Given the description of an element on the screen output the (x, y) to click on. 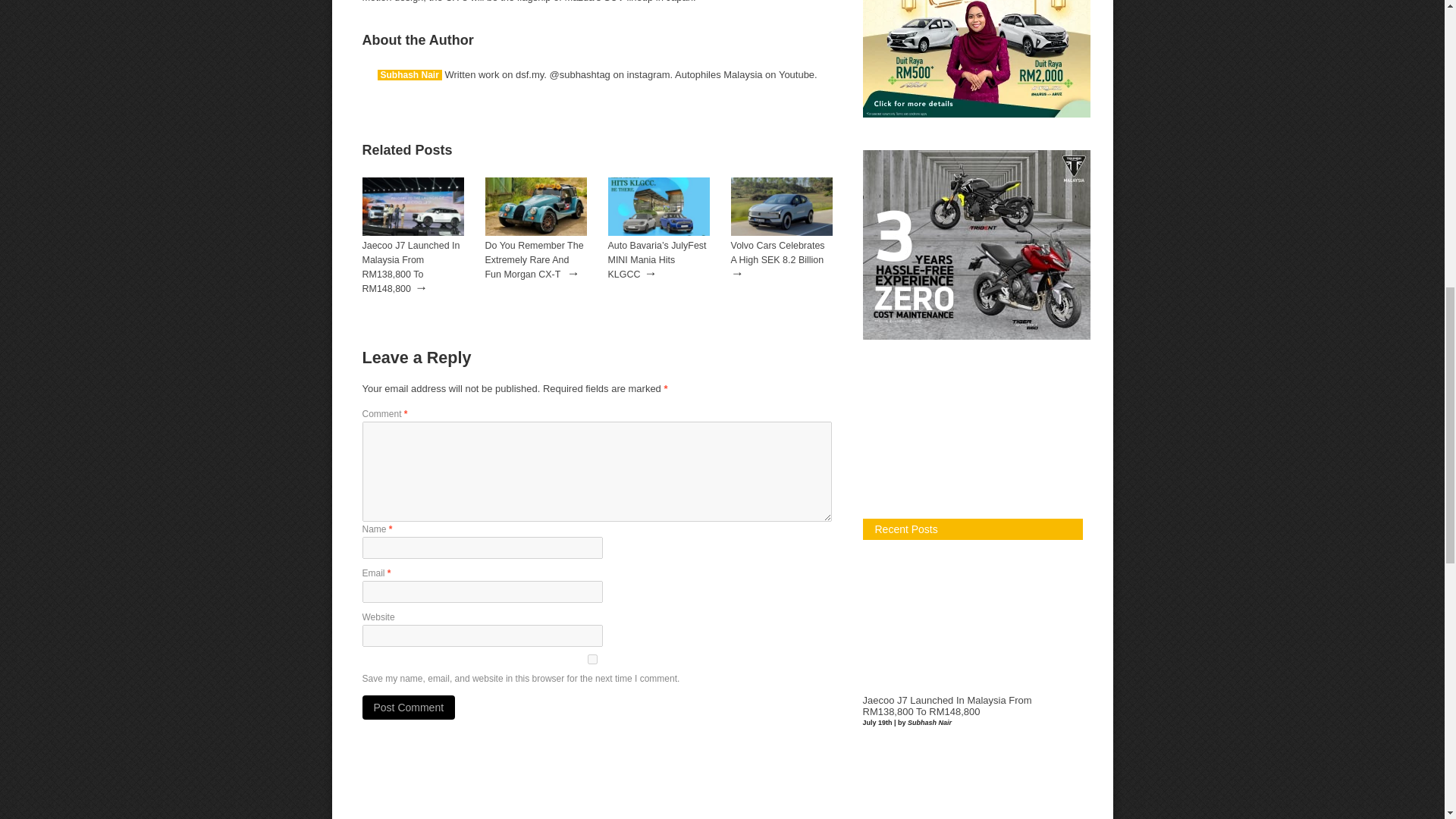
Jaecoo J7 Launched In Malaysia From RM138,800 To RM148,800 (413, 232)
Posts by Subhash Nair (409, 74)
Jaecoo J7 Launched In Malaysia From RM138,800 To RM148,800 (411, 267)
Jaecoo J7 Launched In Malaysia From RM138,800 To RM148,800 (947, 706)
Post Comment (408, 707)
Jaecoo J7 Launched In Malaysia From RM138,800 To RM148,800 (411, 267)
Subhash Nair (409, 74)
Volvo Cars Celebrates A High SEK 8.2 Billion (777, 252)
Volvo Cars Celebrates A High SEK 8.2 Billion (781, 232)
Volvo Cars Celebrates A High SEK 8.2 Billion (777, 252)
Jaecoo J7 Launched In Malaysia From RM138,800 To RM148,800 (947, 706)
Post Comment (408, 707)
yes (593, 659)
Do You Remember The Extremely Rare And Fun Morgan CX-T  (533, 260)
